Given the description of an element on the screen output the (x, y) to click on. 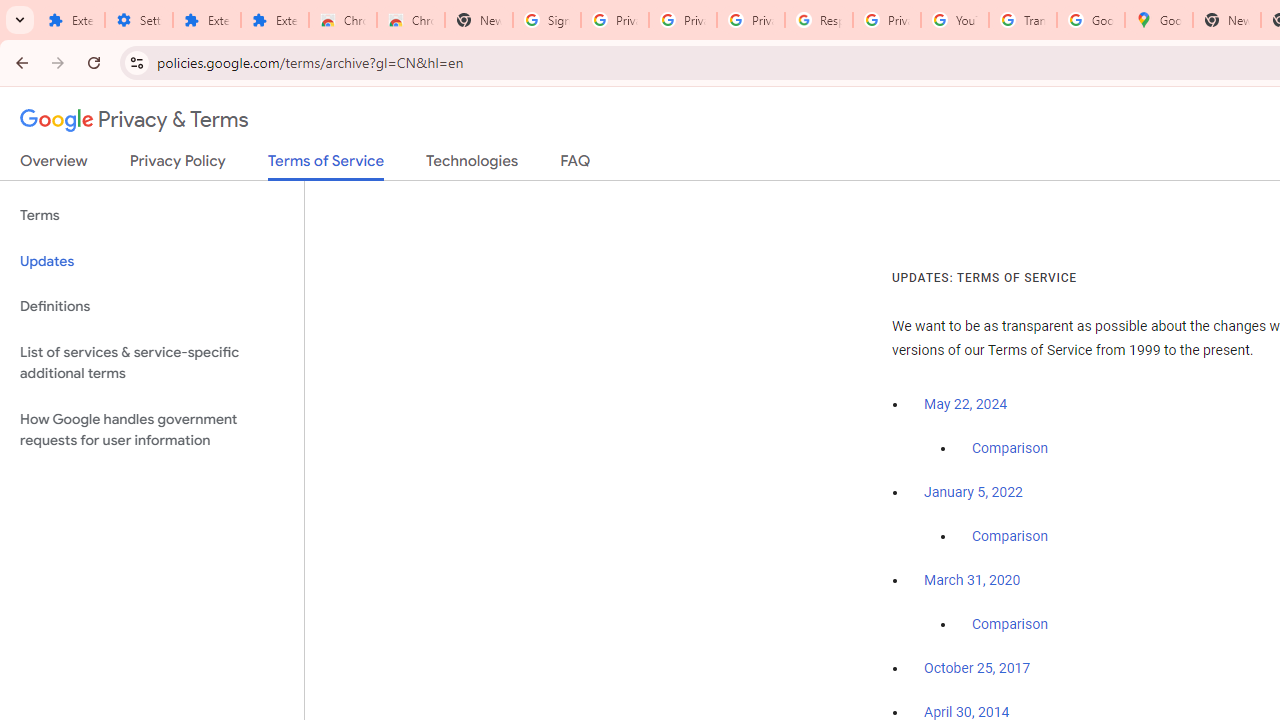
March 31, 2020 (972, 580)
New Tab (479, 20)
Extensions (274, 20)
